Given the description of an element on the screen output the (x, y) to click on. 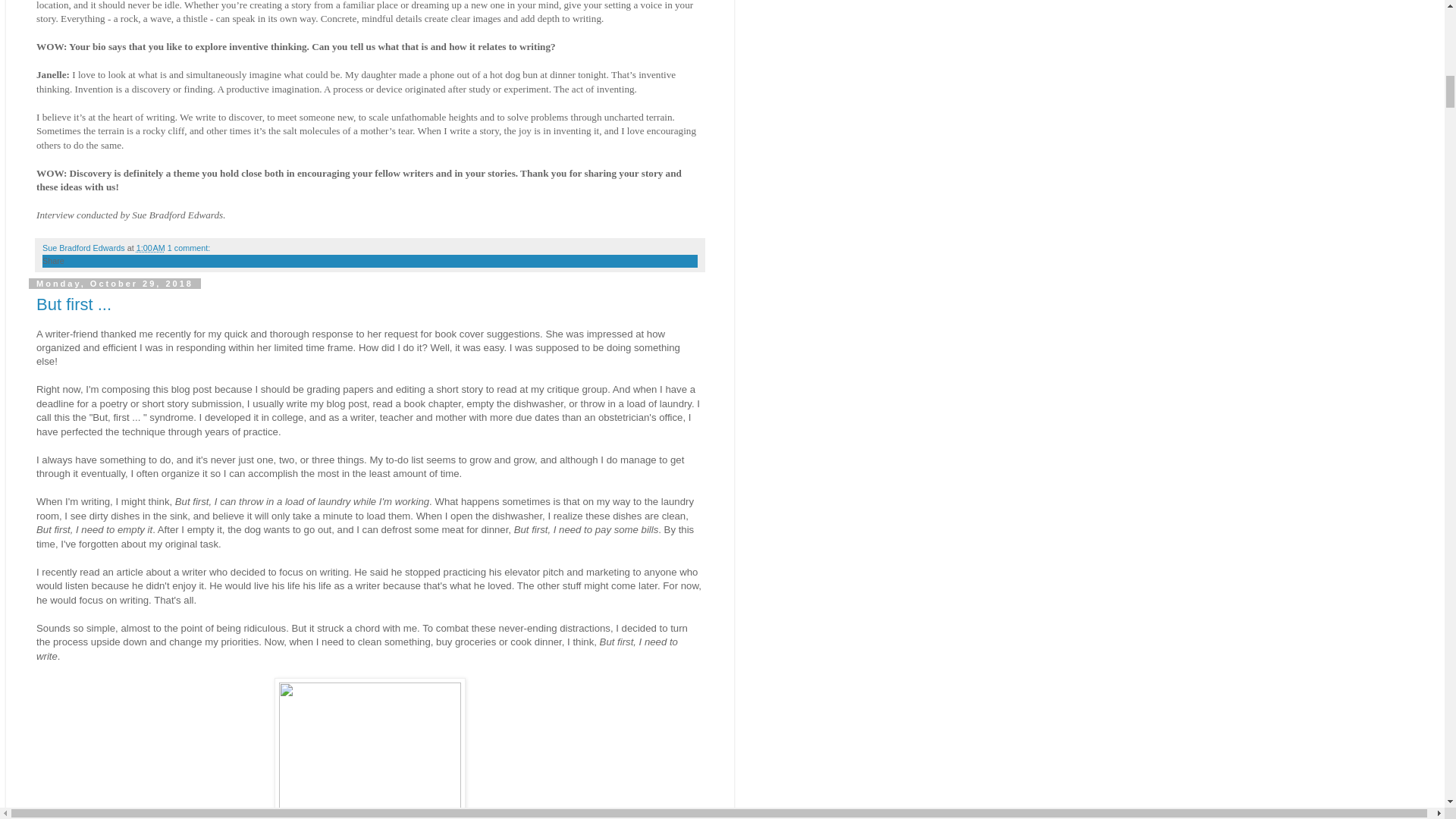
1 comment: (188, 247)
permanent link (150, 247)
But first ... (74, 303)
author profile (85, 247)
Sue Bradford Edwards (85, 247)
Share (53, 260)
